Given the description of an element on the screen output the (x, y) to click on. 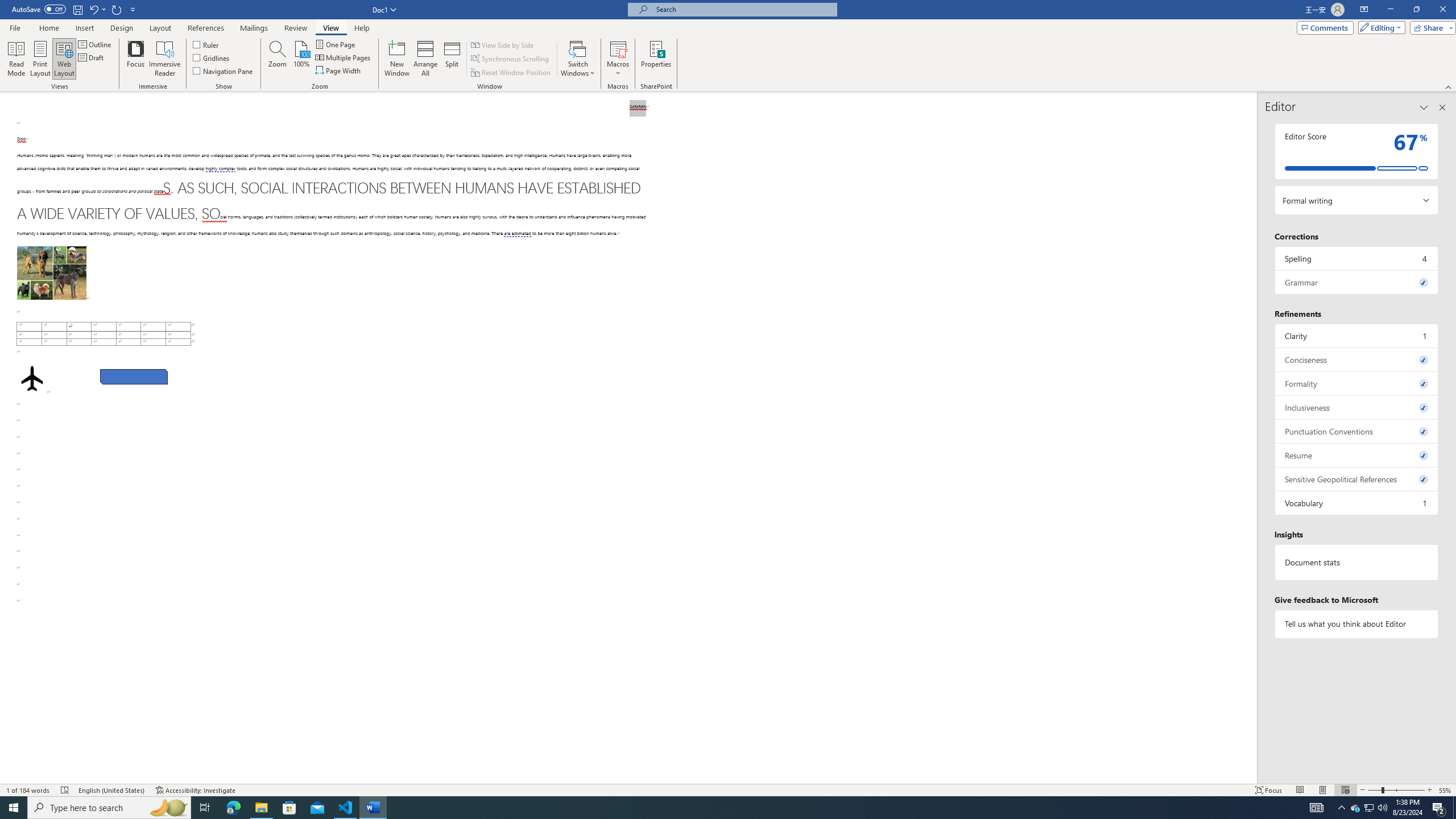
Undo Paragraph Alignment (92, 9)
Page Width (338, 69)
Rectangle: Diagonal Corners Snipped 2 (133, 376)
Resume, 0 issues. Press space or enter to review items. (1356, 454)
Focus (135, 58)
Switch Windows (577, 58)
100% (301, 58)
